Given the description of an element on the screen output the (x, y) to click on. 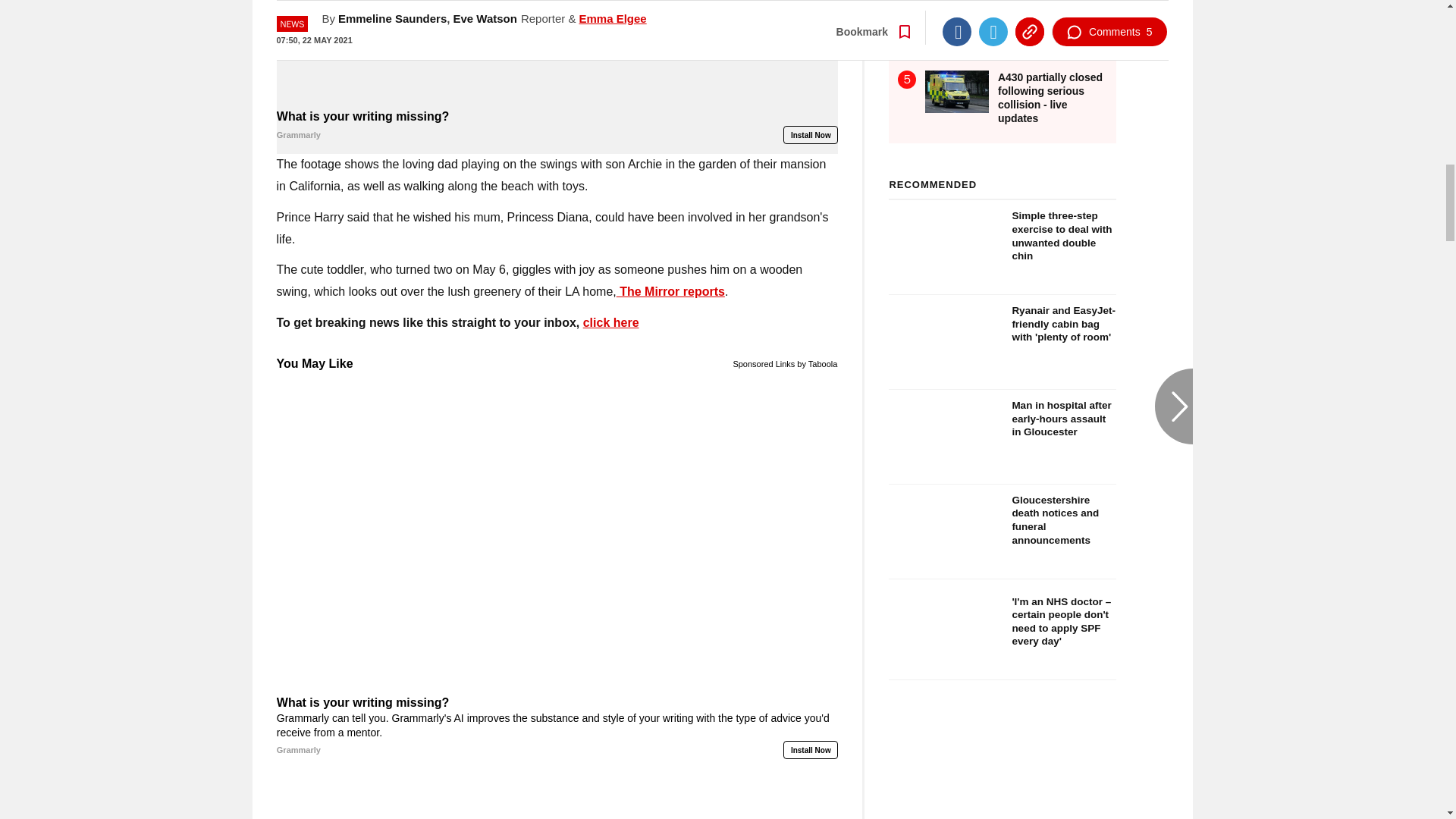
What is your writing missing? (557, 52)
